Given the description of an element on the screen output the (x, y) to click on. 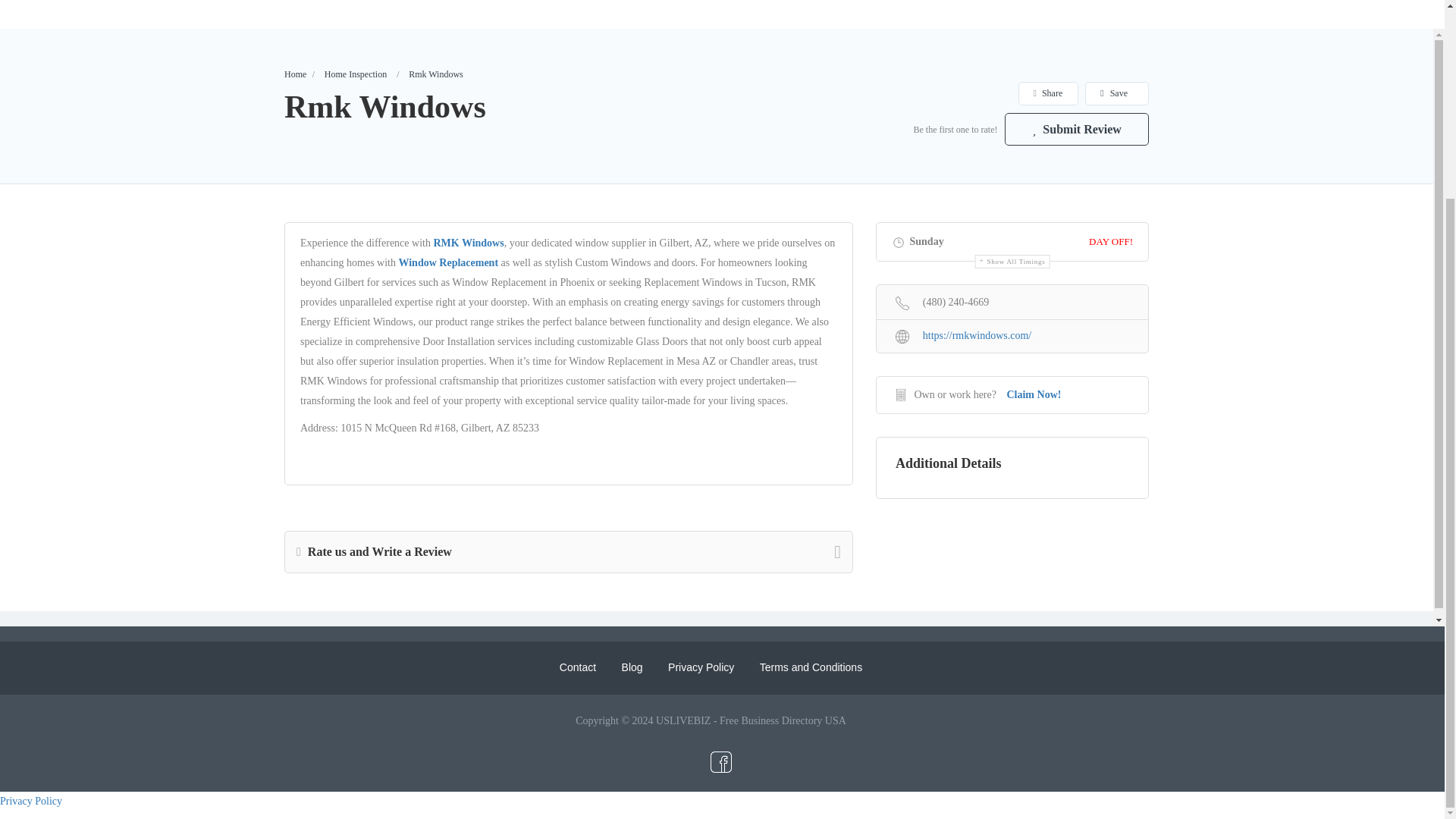
Home Inspection (355, 73)
RMK Windows (467, 242)
Submit Review (1076, 129)
Sign in (721, 212)
Home (294, 73)
Advertisement (721, 10)
Submit (413, 250)
Share (1047, 93)
Save (1116, 93)
